Given the description of an element on the screen output the (x, y) to click on. 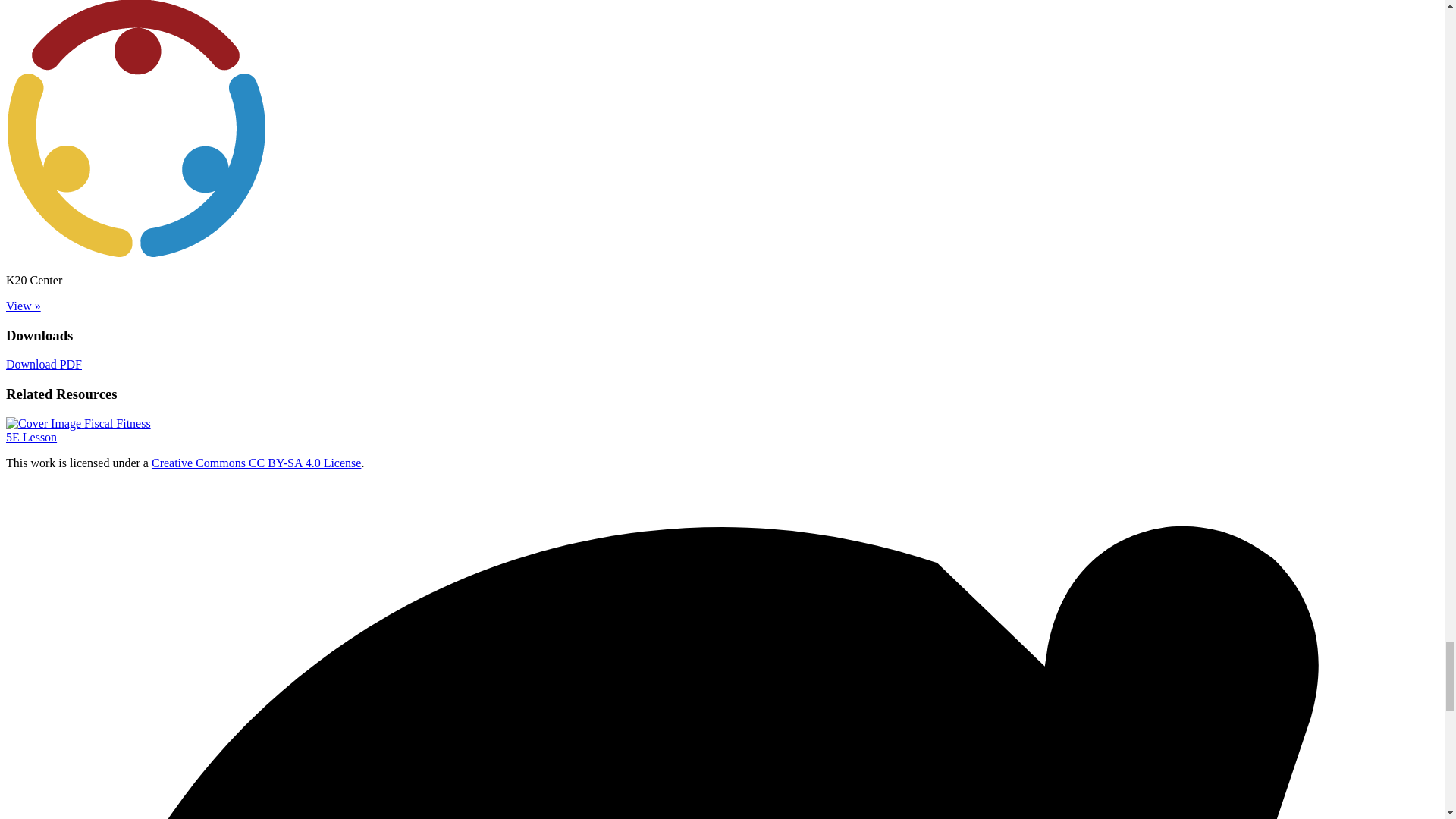
Download PDF (78, 429)
Creative Commons CC BY-SA 4.0 License (43, 364)
